Given the description of an element on the screen output the (x, y) to click on. 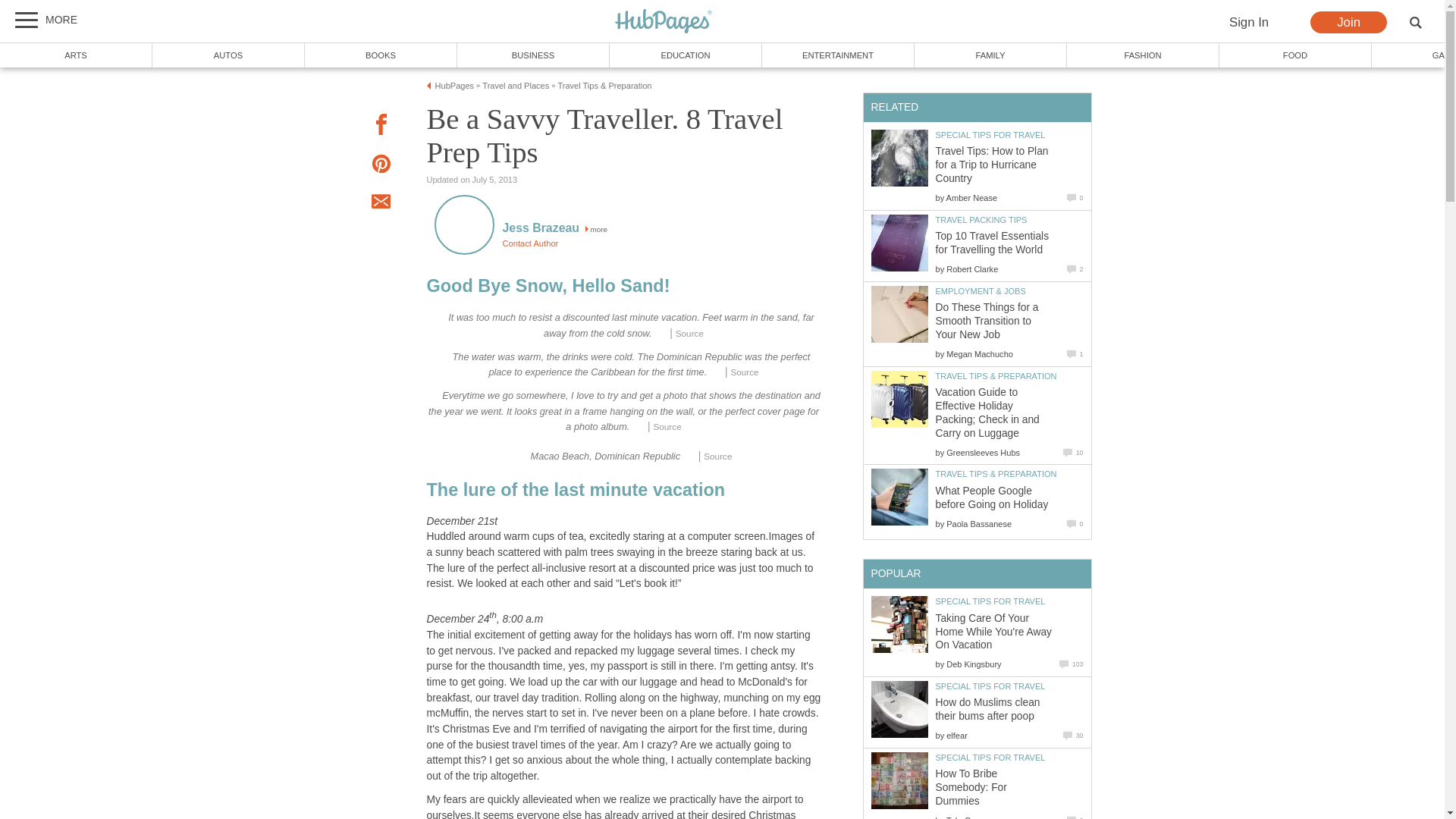
Jess Brazeau more (554, 229)
HubPages (454, 85)
Email (380, 203)
Contact Author (529, 243)
Taking Care Of Your Home While You're Away On Vacation (898, 624)
FAMILY (990, 55)
HubPages (663, 22)
Travel Tips: How to Plan for a Trip to Hurricane Country (898, 157)
HubPages (663, 21)
What People Google before Going on Holiday (898, 496)
